Given the description of an element on the screen output the (x, y) to click on. 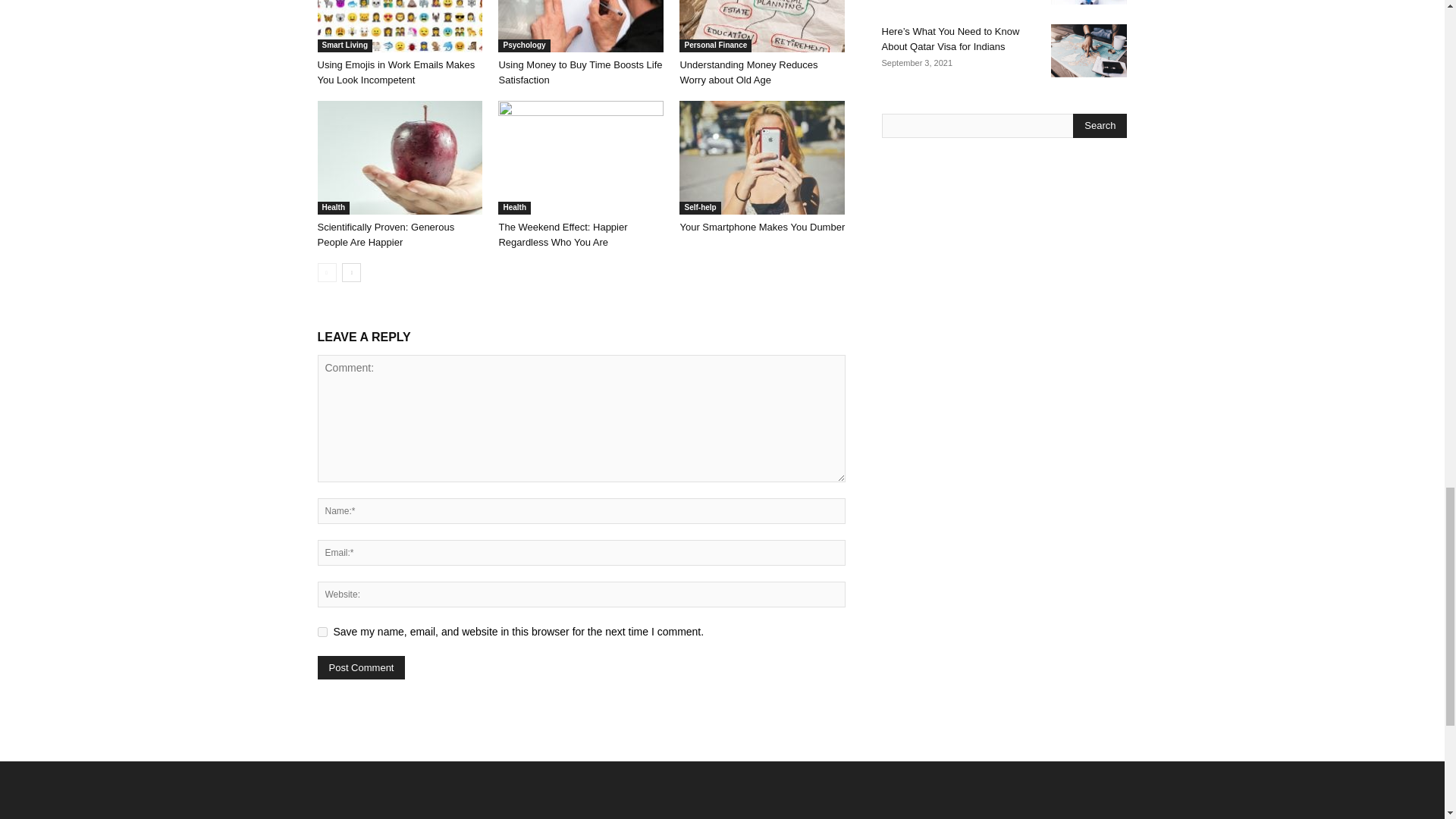
Search (1099, 125)
Post Comment (360, 667)
yes (321, 632)
